Given the description of an element on the screen output the (x, y) to click on. 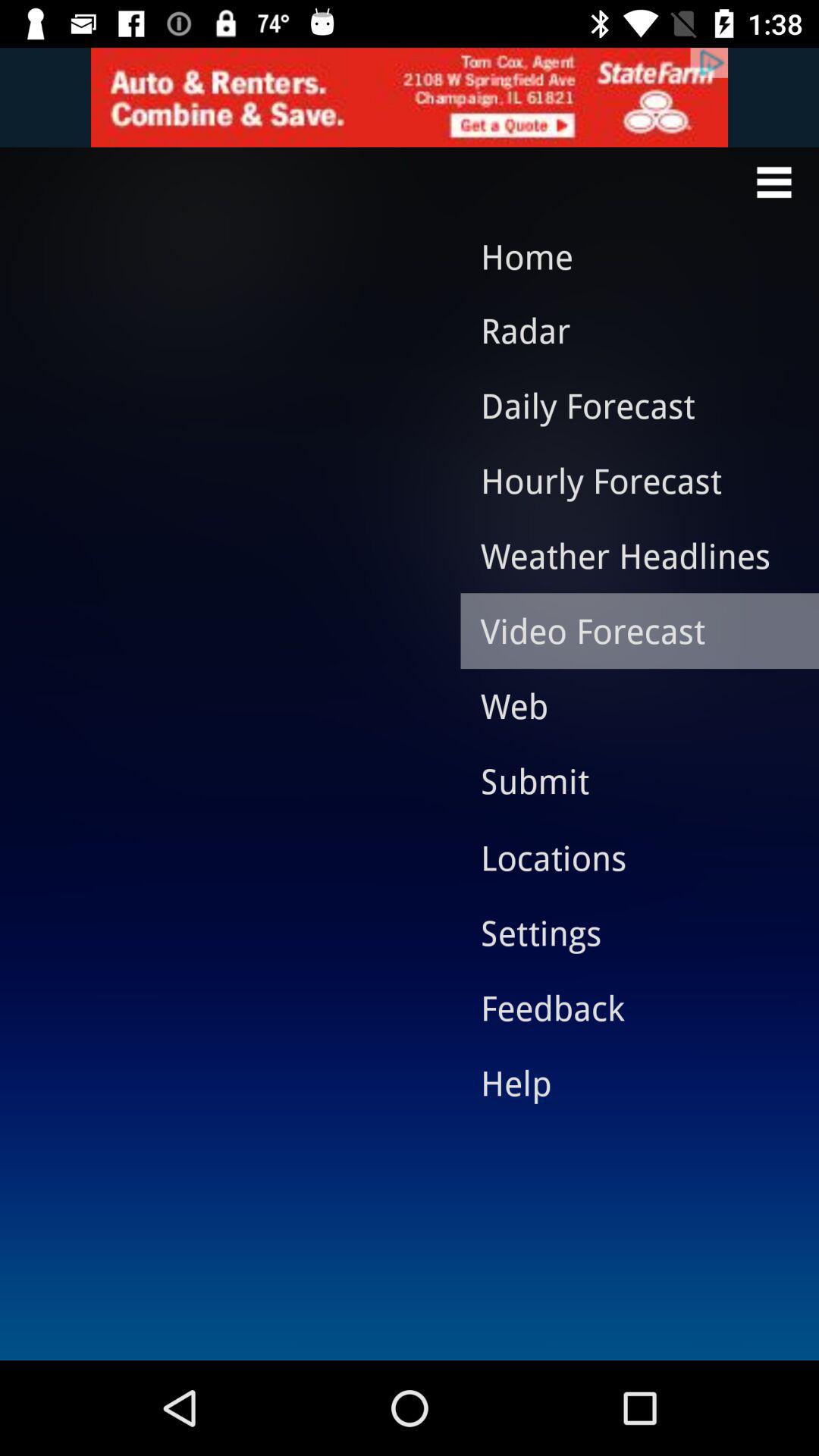
get insurance quote (409, 97)
